Given the description of an element on the screen output the (x, y) to click on. 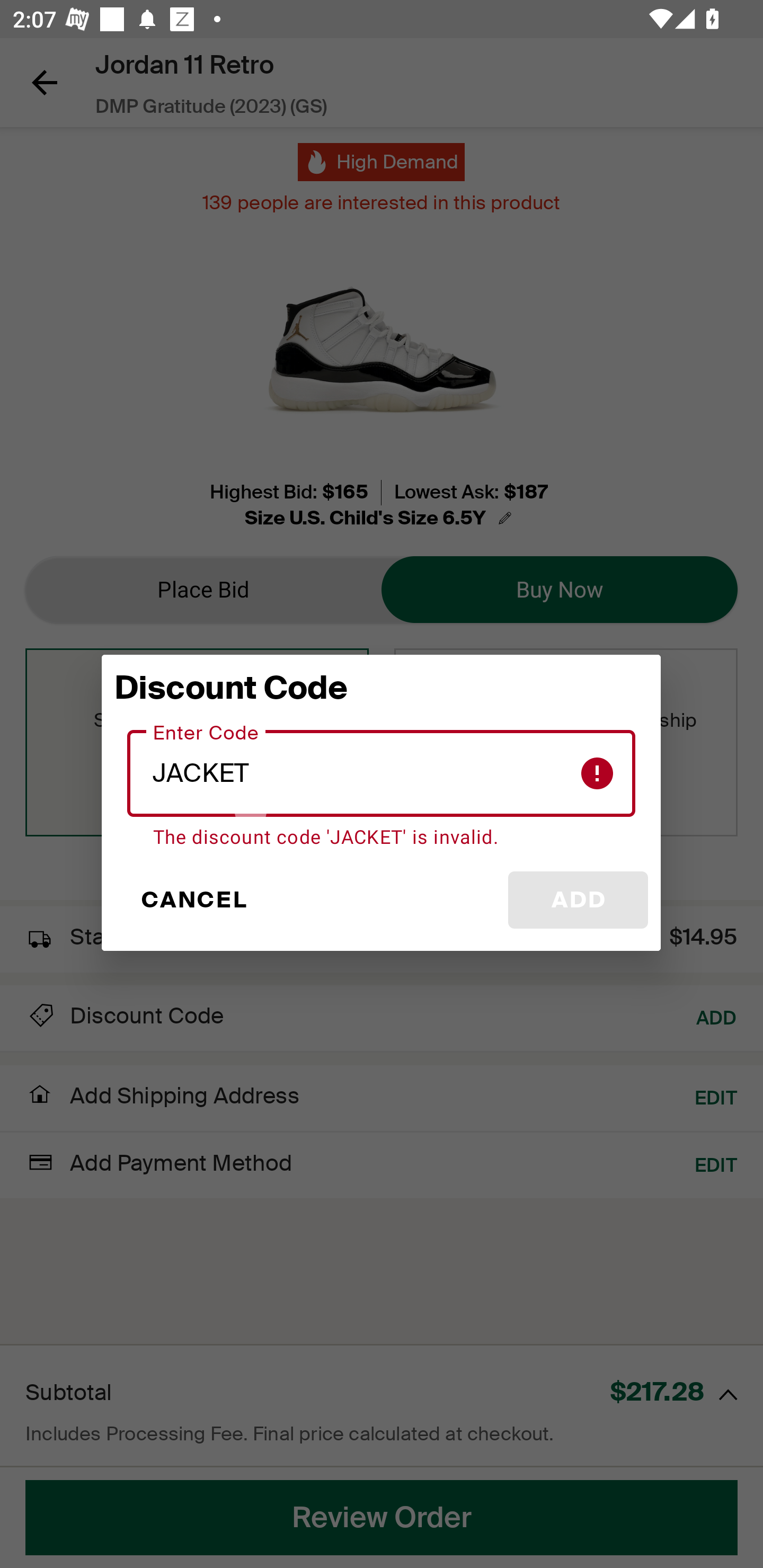
JACKET (381, 773)
CANCEL (193, 899)
ADD (577, 899)
